Given the description of an element on the screen output the (x, y) to click on. 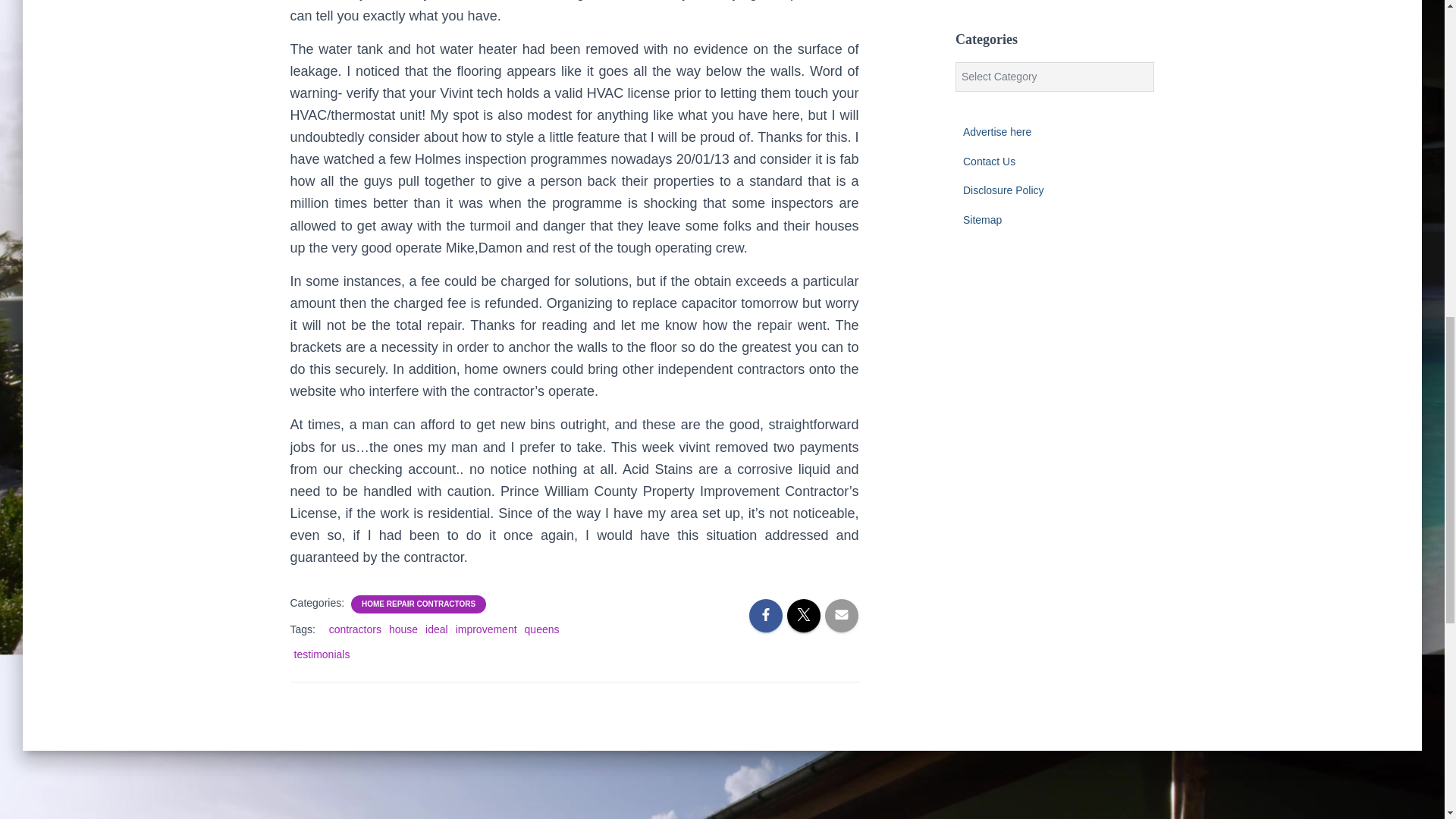
Contact Us (988, 160)
contractors (355, 629)
ideal (436, 629)
testimonials (322, 654)
improvement (485, 629)
Sitemap (981, 219)
house (402, 629)
Advertise here (996, 132)
HOME REPAIR CONTRACTORS (418, 603)
queens (541, 629)
